Given the description of an element on the screen output the (x, y) to click on. 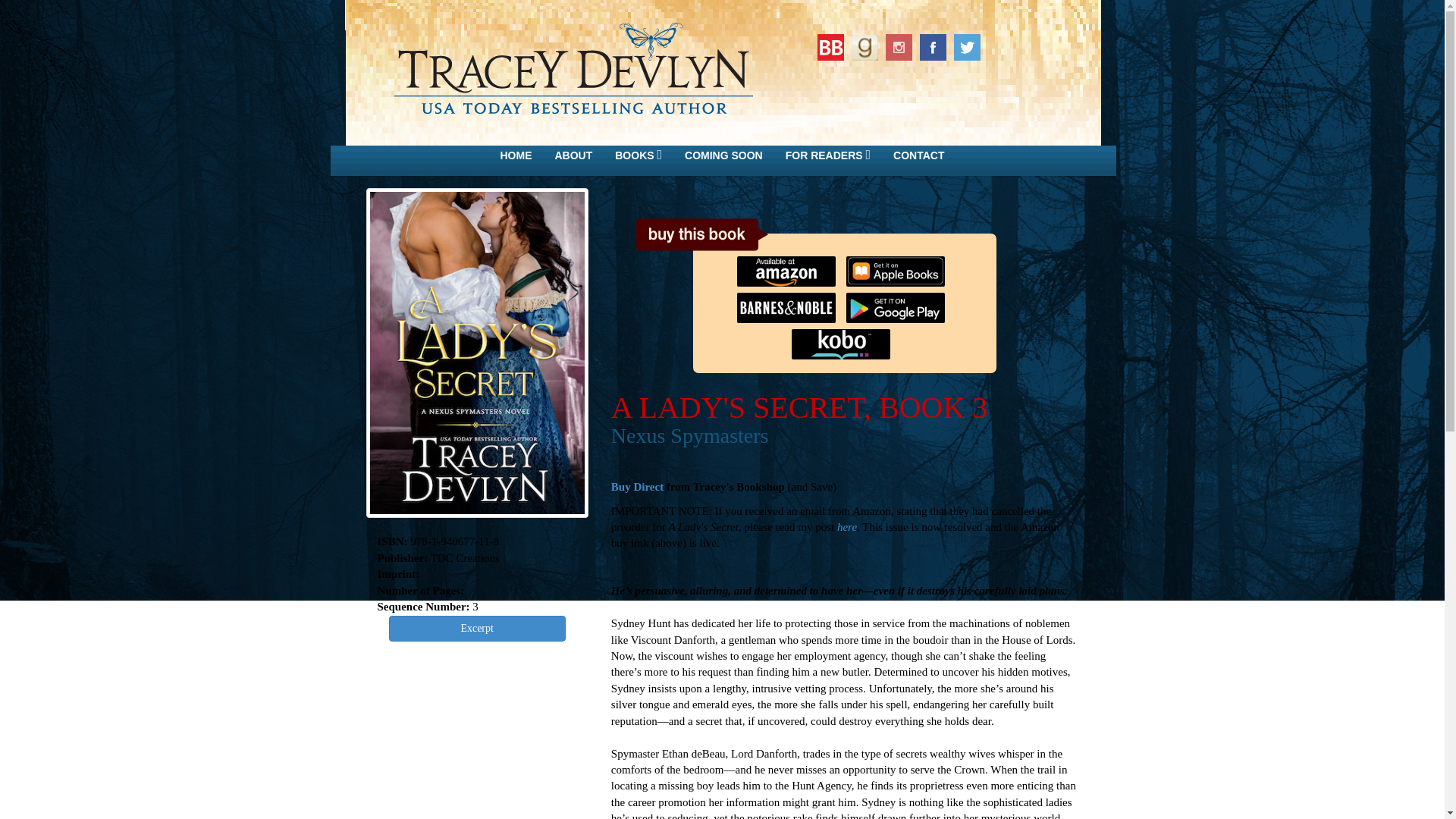
BOOKS  (638, 154)
Kobo (845, 336)
Amazon Kindle (789, 263)
Apple iBooks (898, 263)
ABOUT (573, 154)
HOME (515, 154)
Google Play (898, 300)
